Given the description of an element on the screen output the (x, y) to click on. 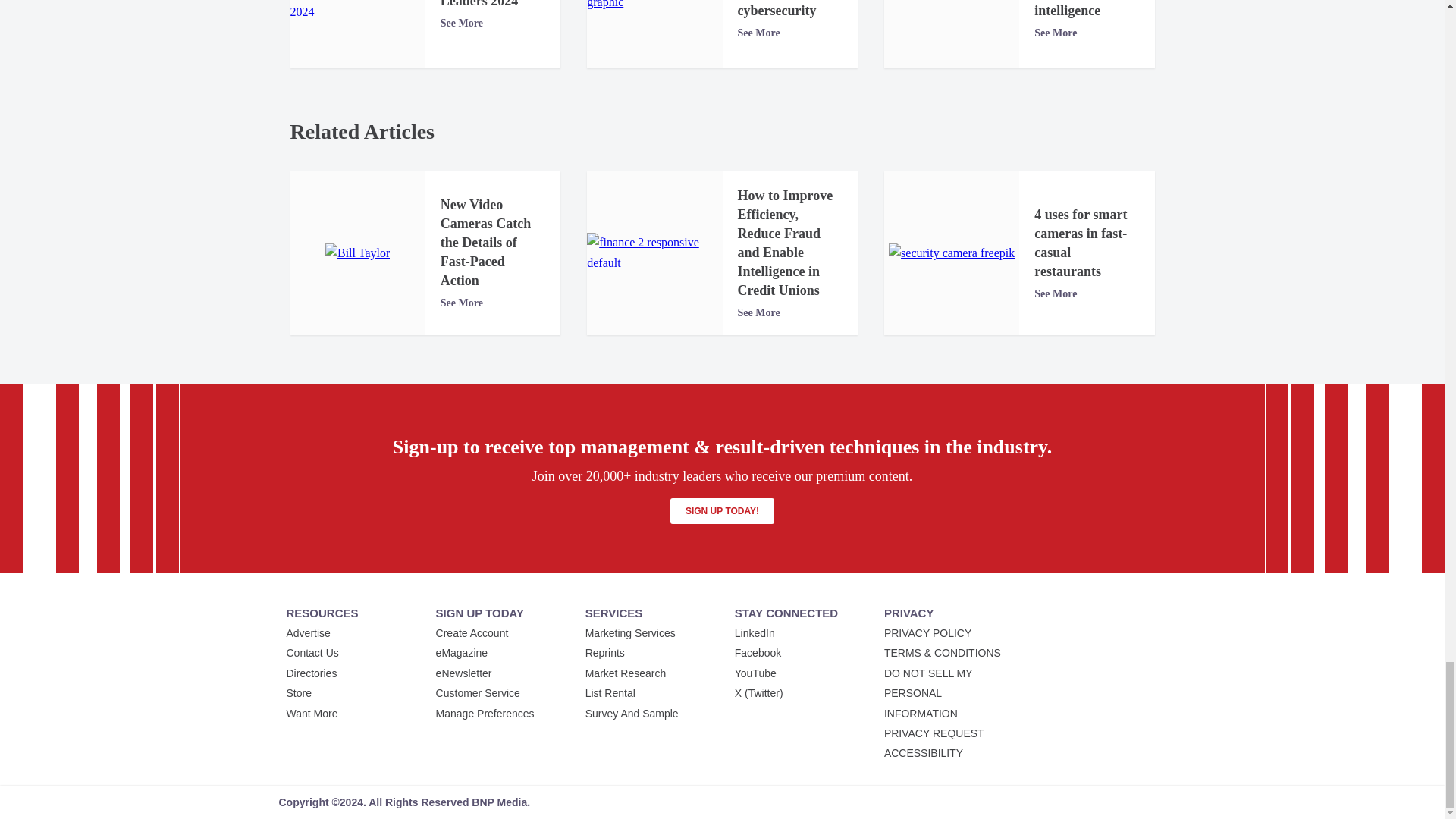
finance 2 responsive default (654, 252)
cyber brain (951, 1)
Artificial Intelligence (654, 6)
Bill Taylor (357, 252)
Security's Top Cybersecurity Leaders 2024 (357, 11)
